Given the description of an element on the screen output the (x, y) to click on. 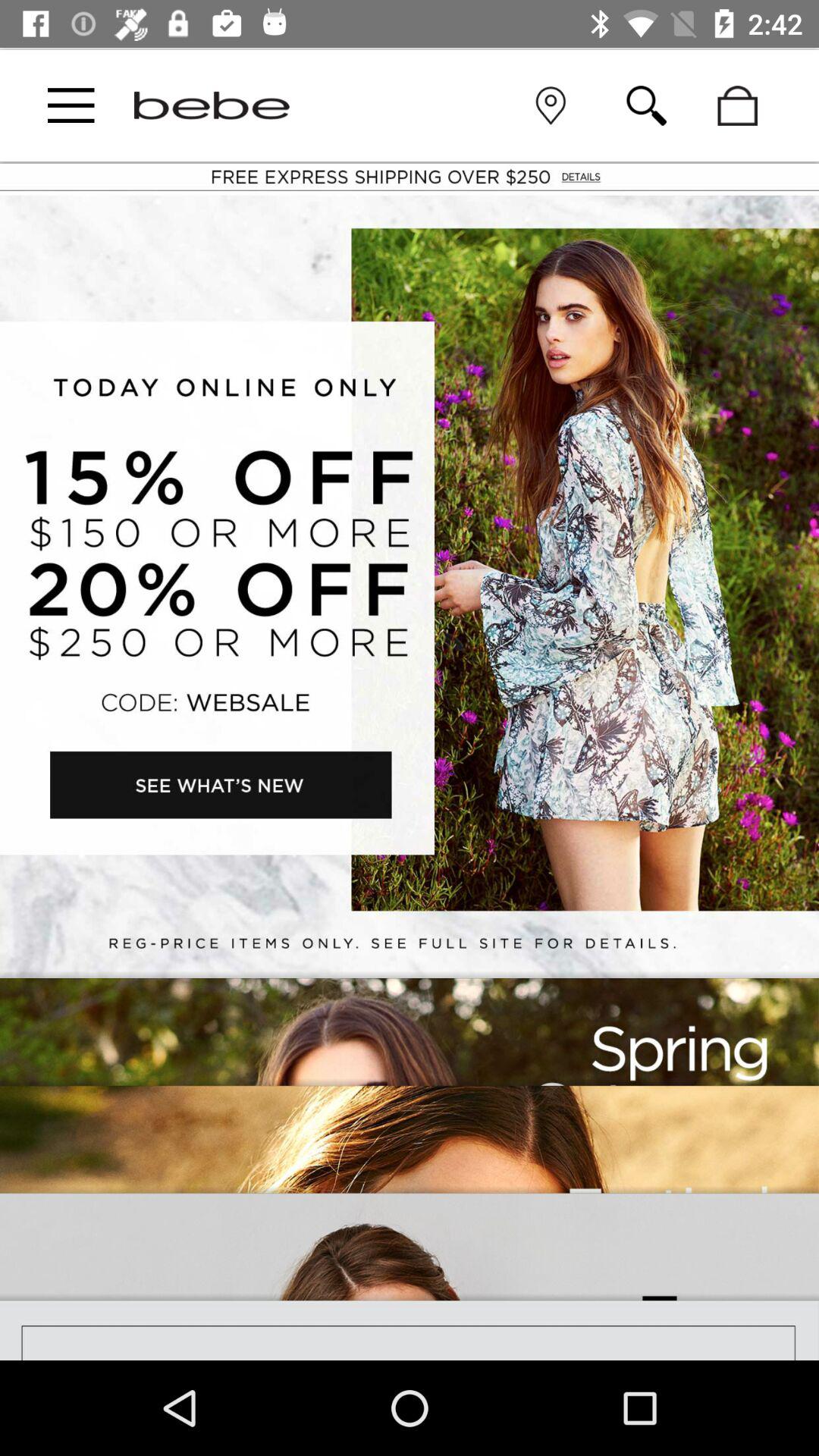
click on the option icon (71, 104)
